Given the description of an element on the screen output the (x, y) to click on. 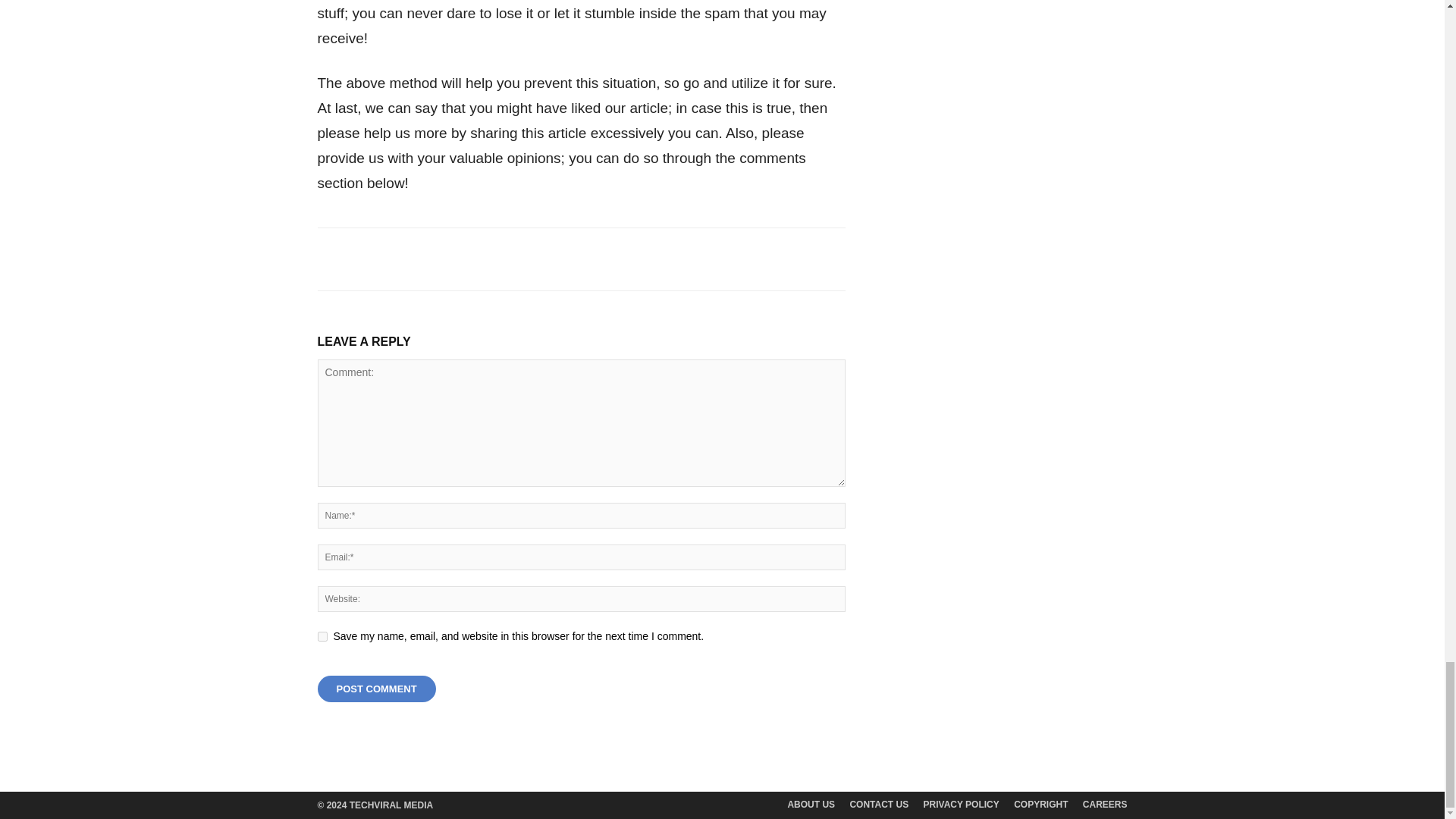
Post Comment (376, 688)
yes (321, 636)
